Given the description of an element on the screen output the (x, y) to click on. 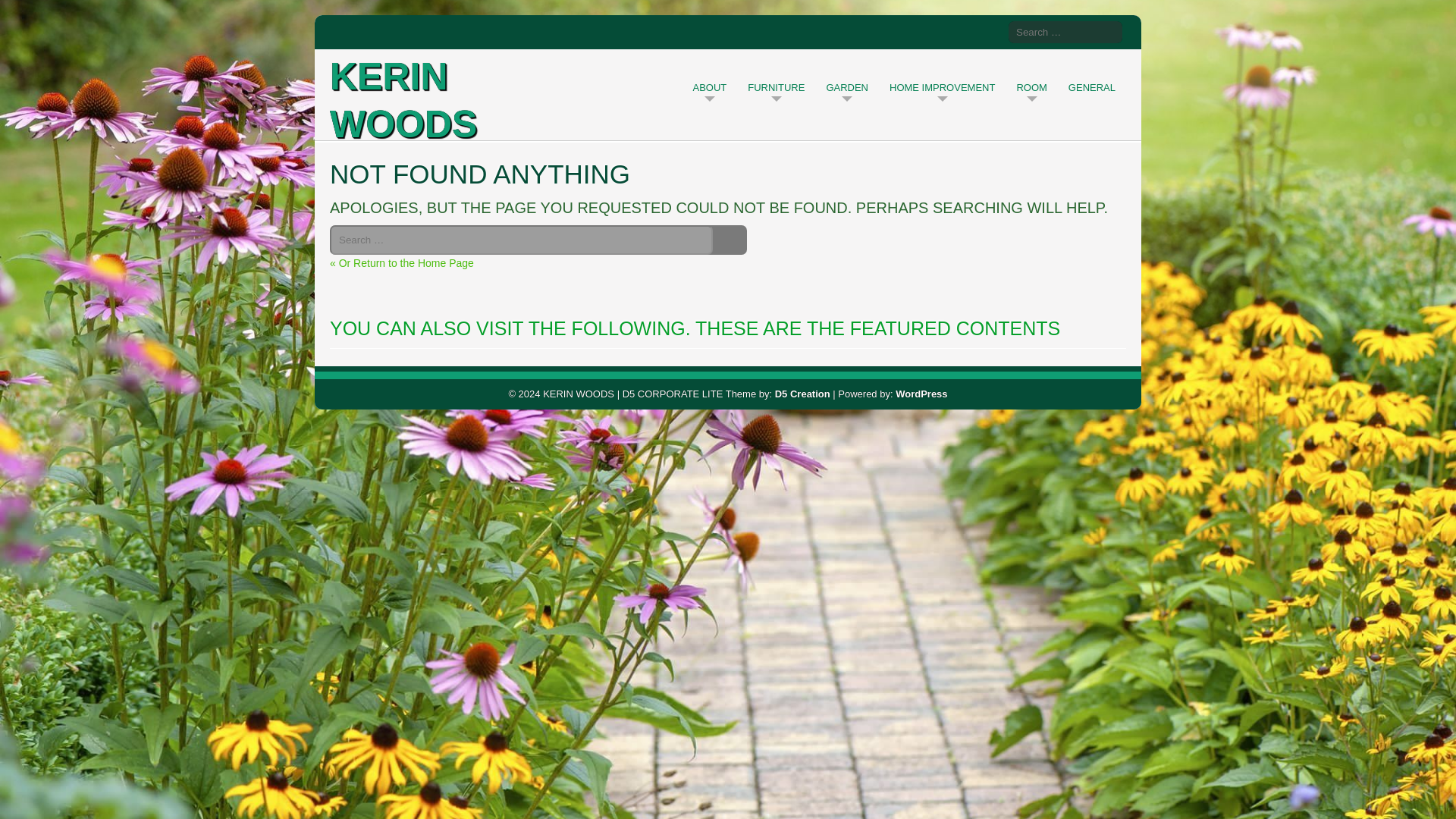
Search (731, 239)
Browse the Home Page (402, 263)
Search (1107, 32)
Search (1107, 32)
ABOUT (709, 86)
HOME IMPROVEMENT (941, 86)
Search (731, 239)
ROOM (1030, 86)
GARDEN (846, 86)
Search (1107, 32)
KERIN WOODS (443, 87)
FURNITURE (775, 86)
